Given the description of an element on the screen output the (x, y) to click on. 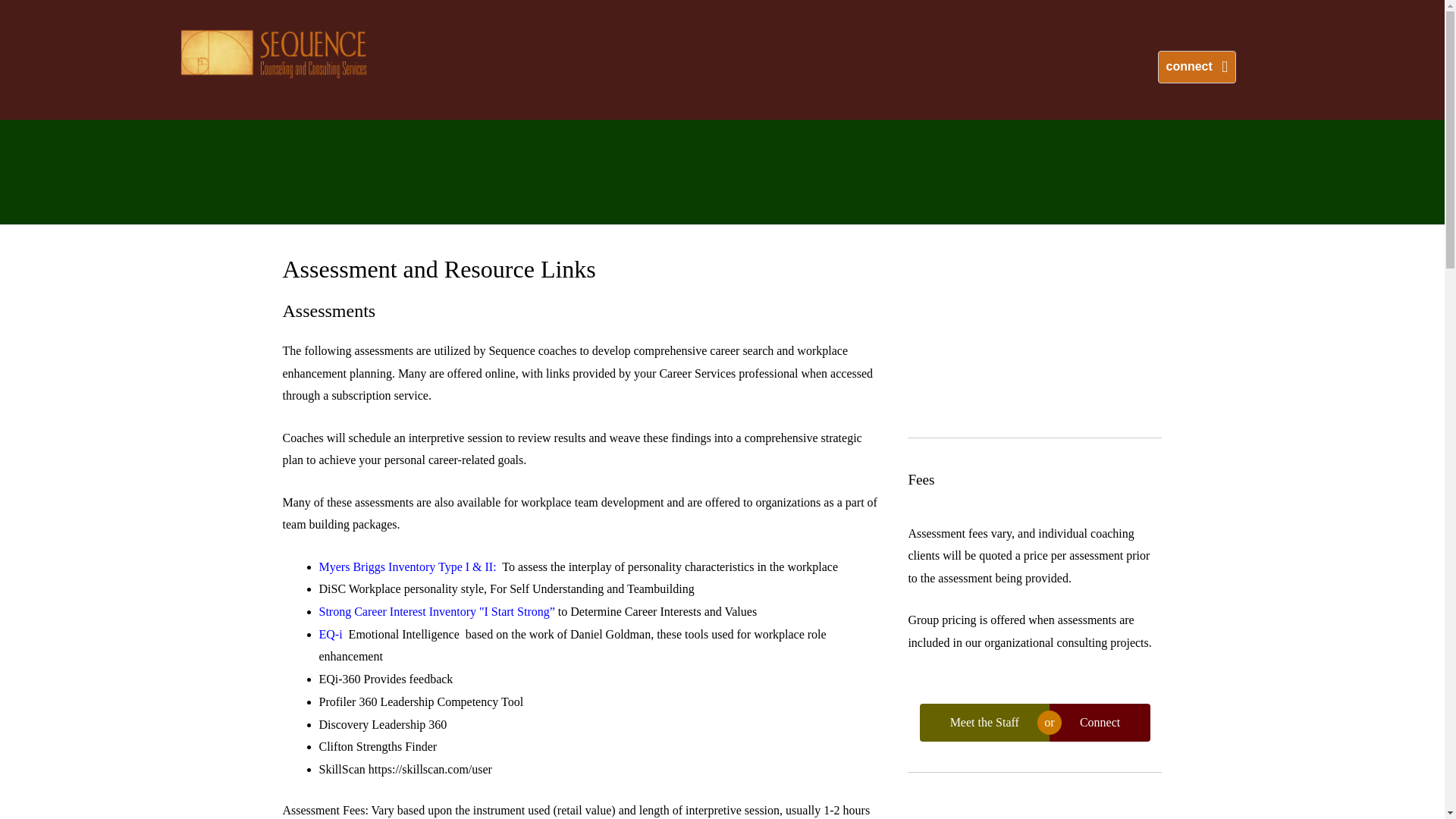
SequenceLogo (272, 53)
EQ-i (330, 634)
connect (1195, 66)
